Given the description of an element on the screen output the (x, y) to click on. 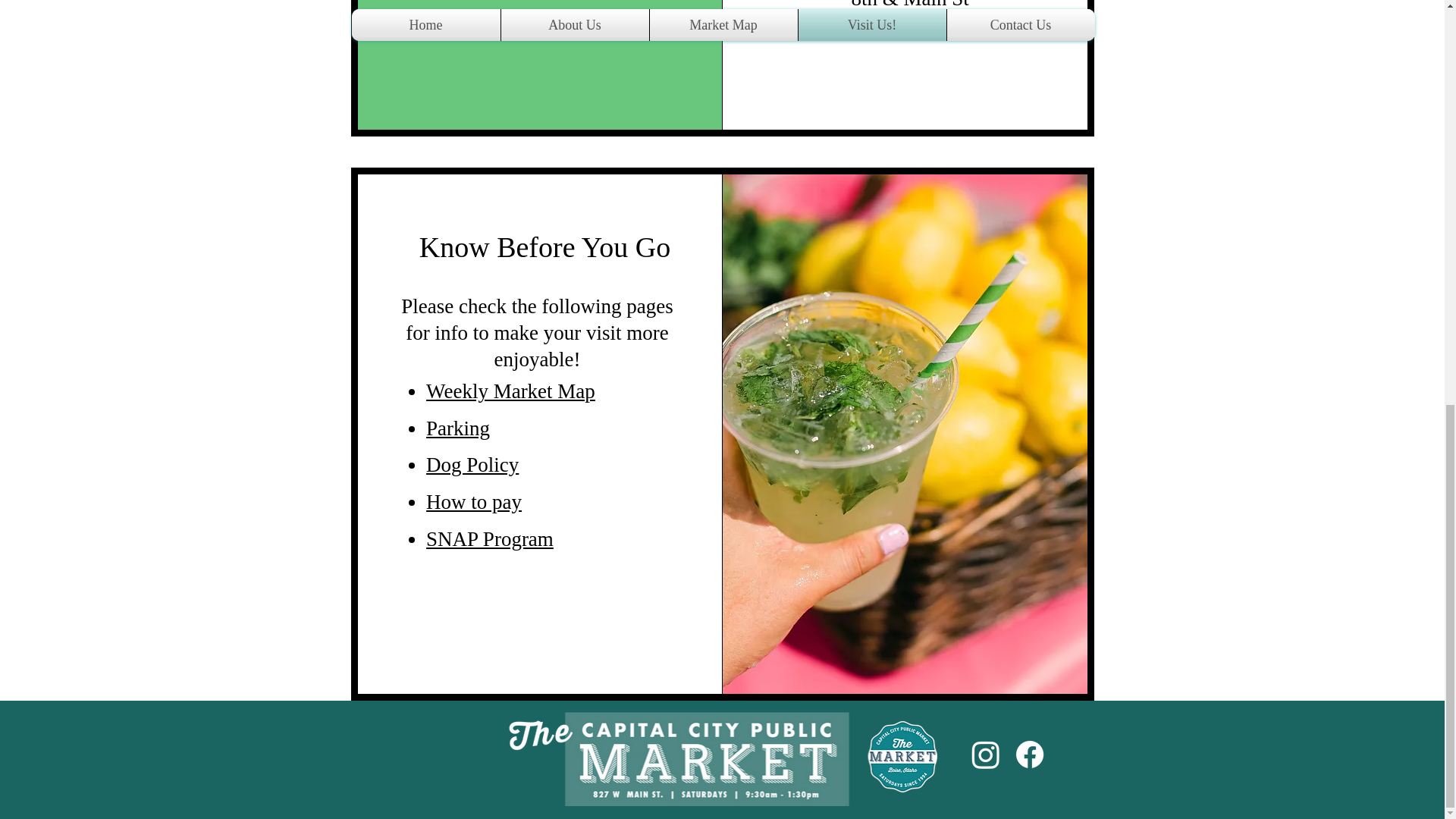
Dog Policy (472, 464)
Weekly Market Map (510, 391)
Parking (457, 427)
SNAP Program (489, 538)
How to pay (473, 501)
